Given the description of an element on the screen output the (x, y) to click on. 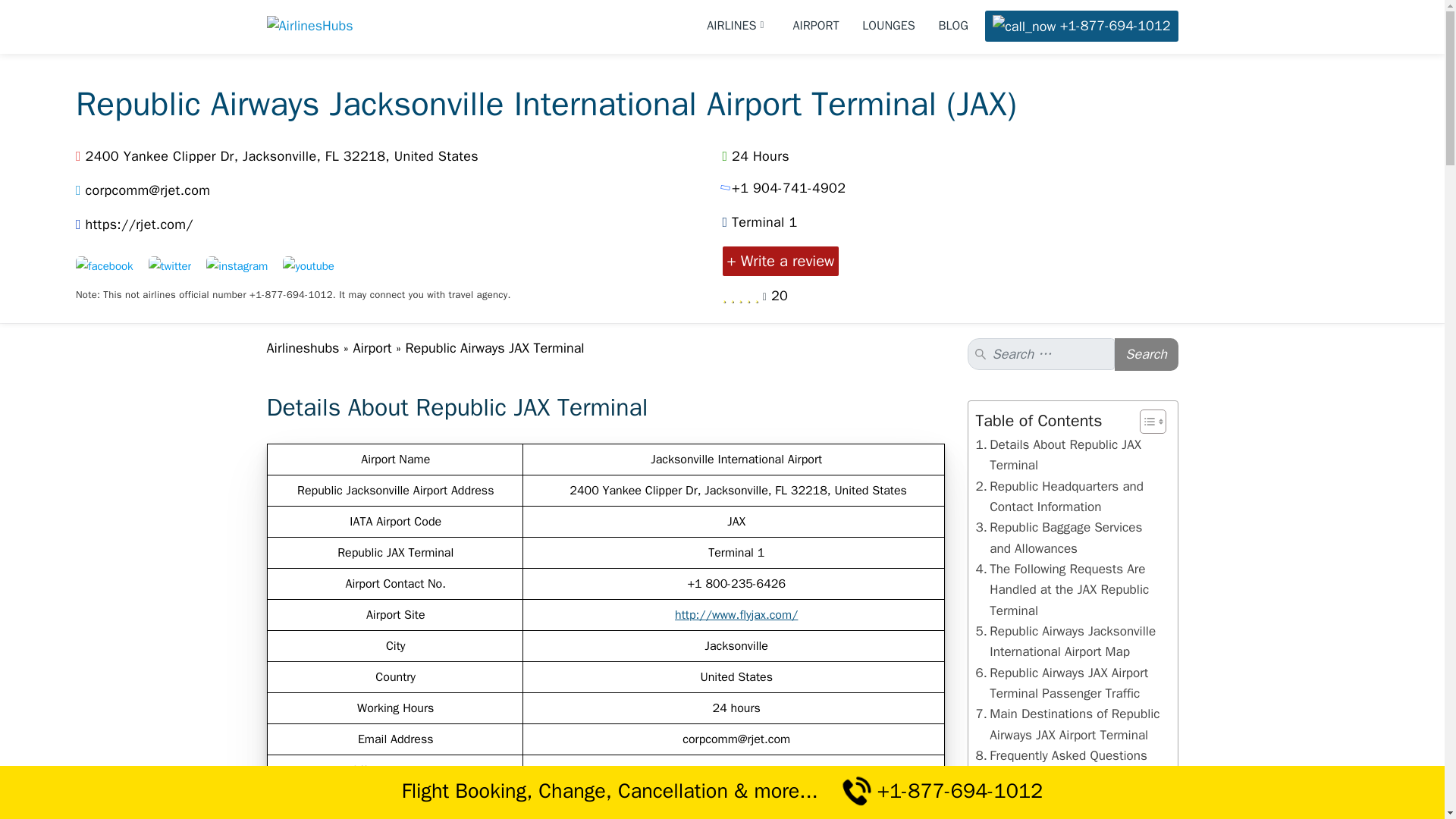
AIRPORT (816, 25)
AIRLINES (738, 25)
Search (1146, 354)
Search (1146, 354)
